Given the description of an element on the screen output the (x, y) to click on. 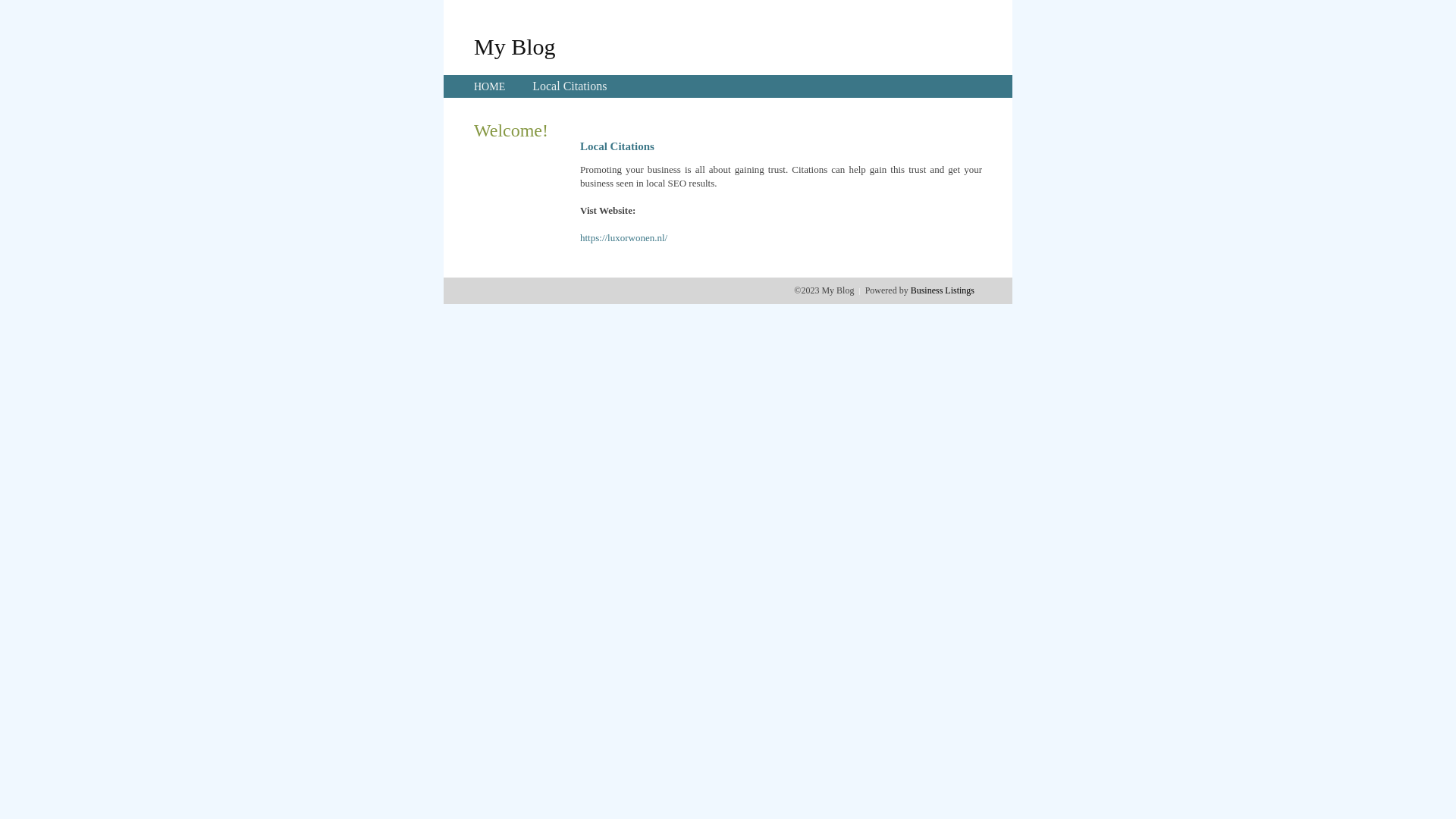
https://luxorwonen.nl/ Element type: text (623, 237)
My Blog Element type: text (514, 46)
HOME Element type: text (489, 86)
Business Listings Element type: text (942, 290)
Local Citations Element type: text (569, 85)
